Given the description of an element on the screen output the (x, y) to click on. 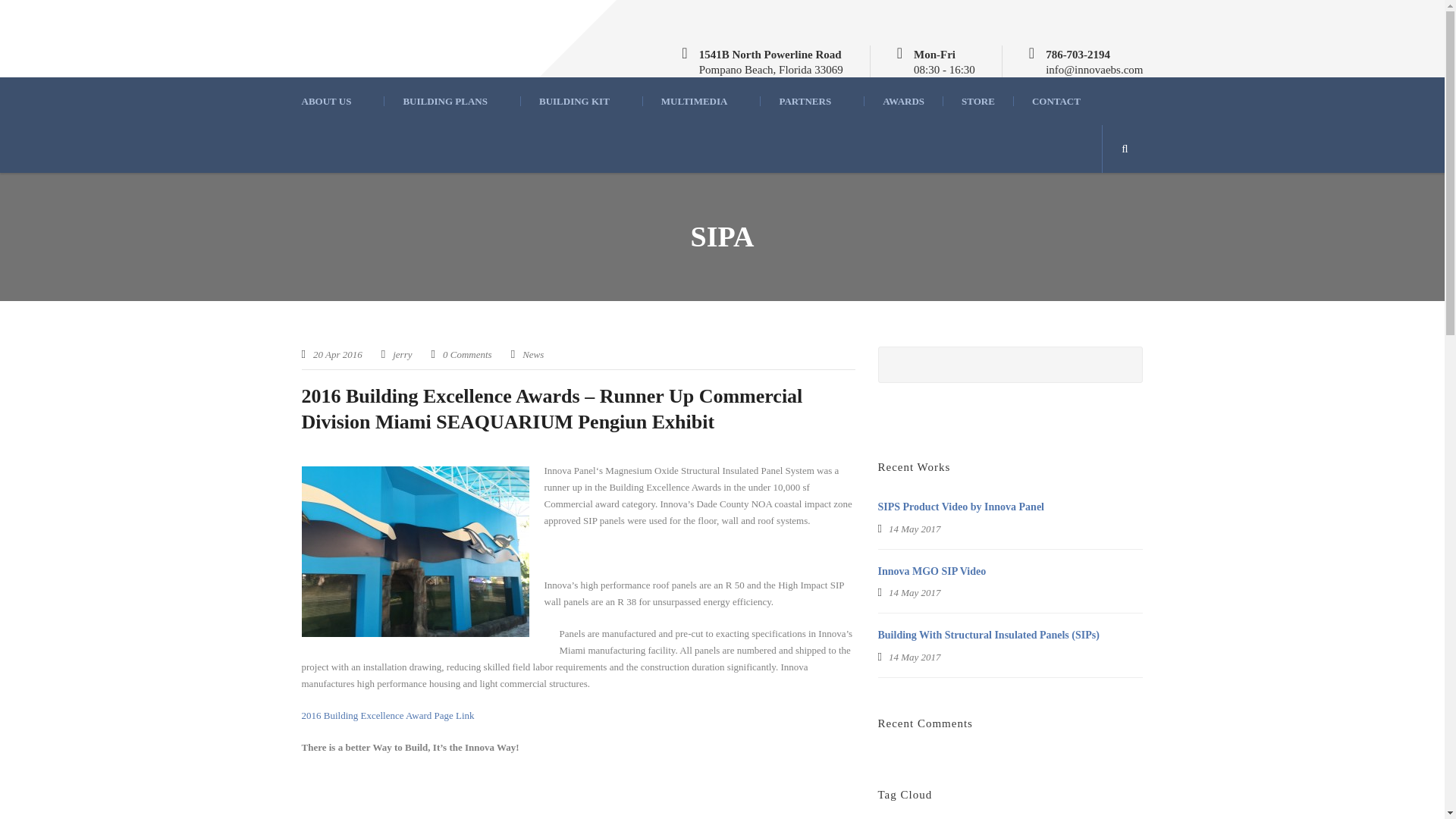
2016 Building Excellence Award link (390, 715)
ABOUT US (342, 101)
BUILDING PLANS (451, 101)
Posts by jerry (402, 354)
